Given the description of an element on the screen output the (x, y) to click on. 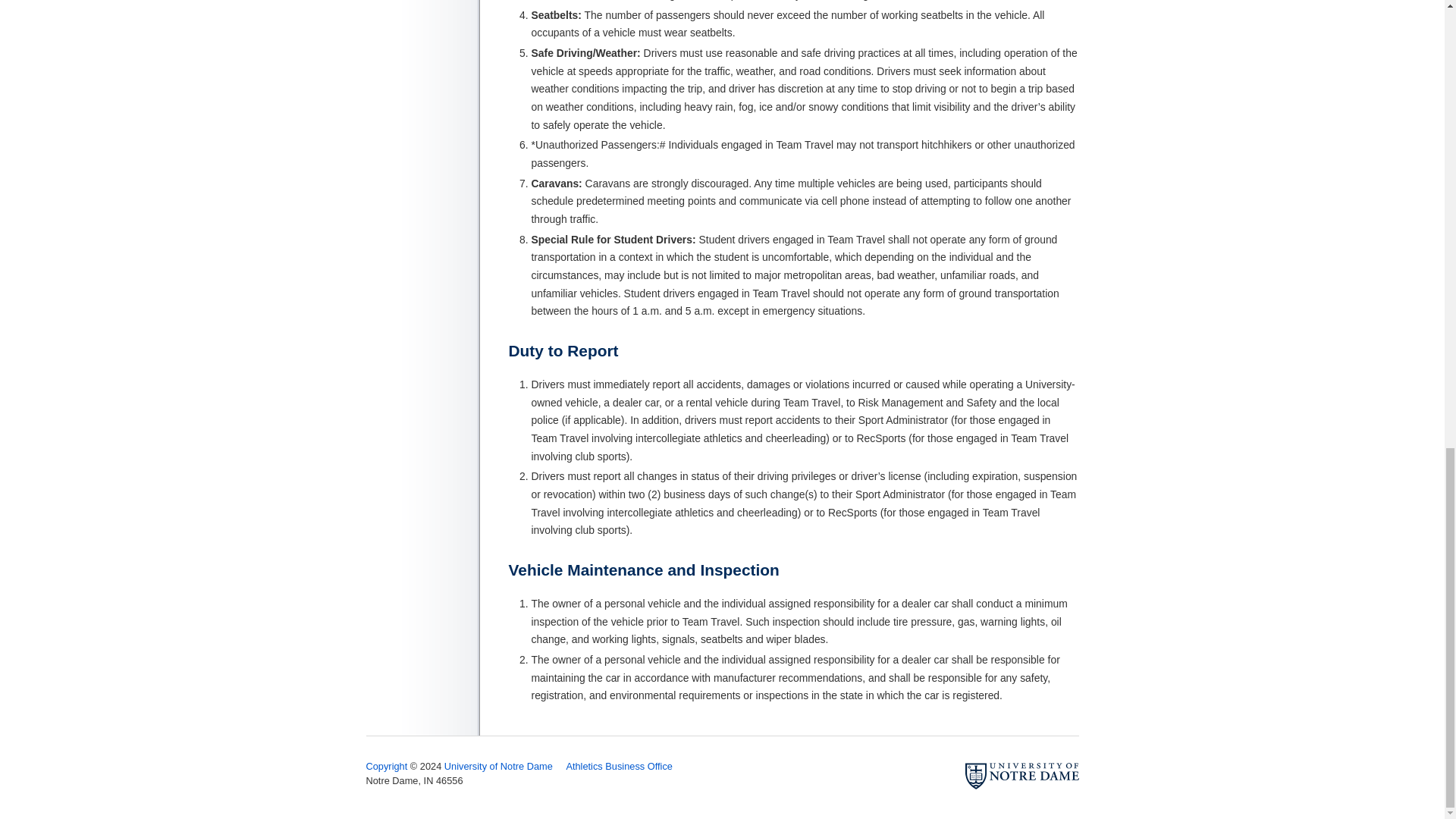
Athletics Business Office (619, 766)
Copyright (386, 766)
University of Notre Dame (498, 766)
